Given the description of an element on the screen output the (x, y) to click on. 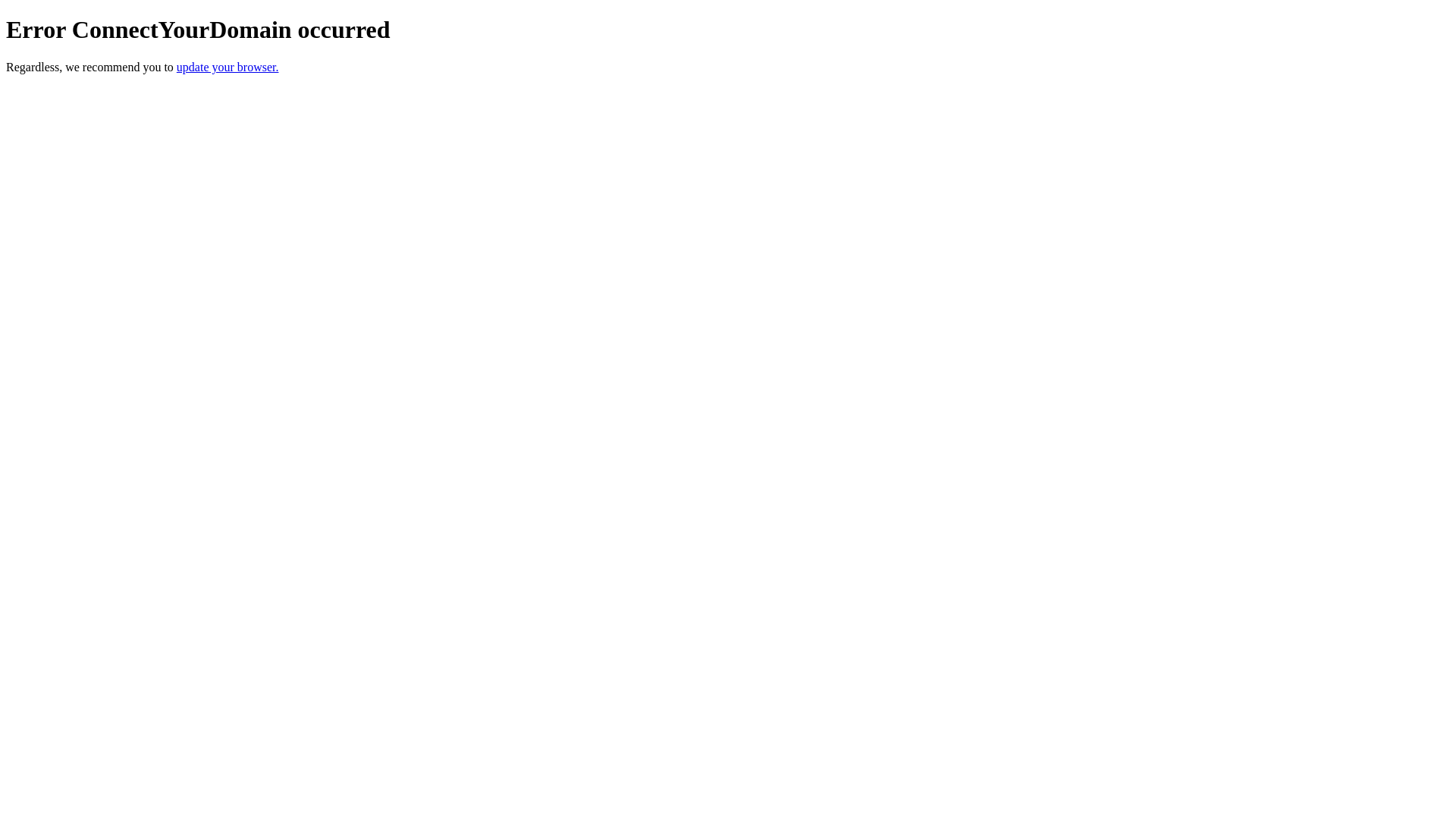
update your browser. Element type: text (227, 66)
